Given the description of an element on the screen output the (x, y) to click on. 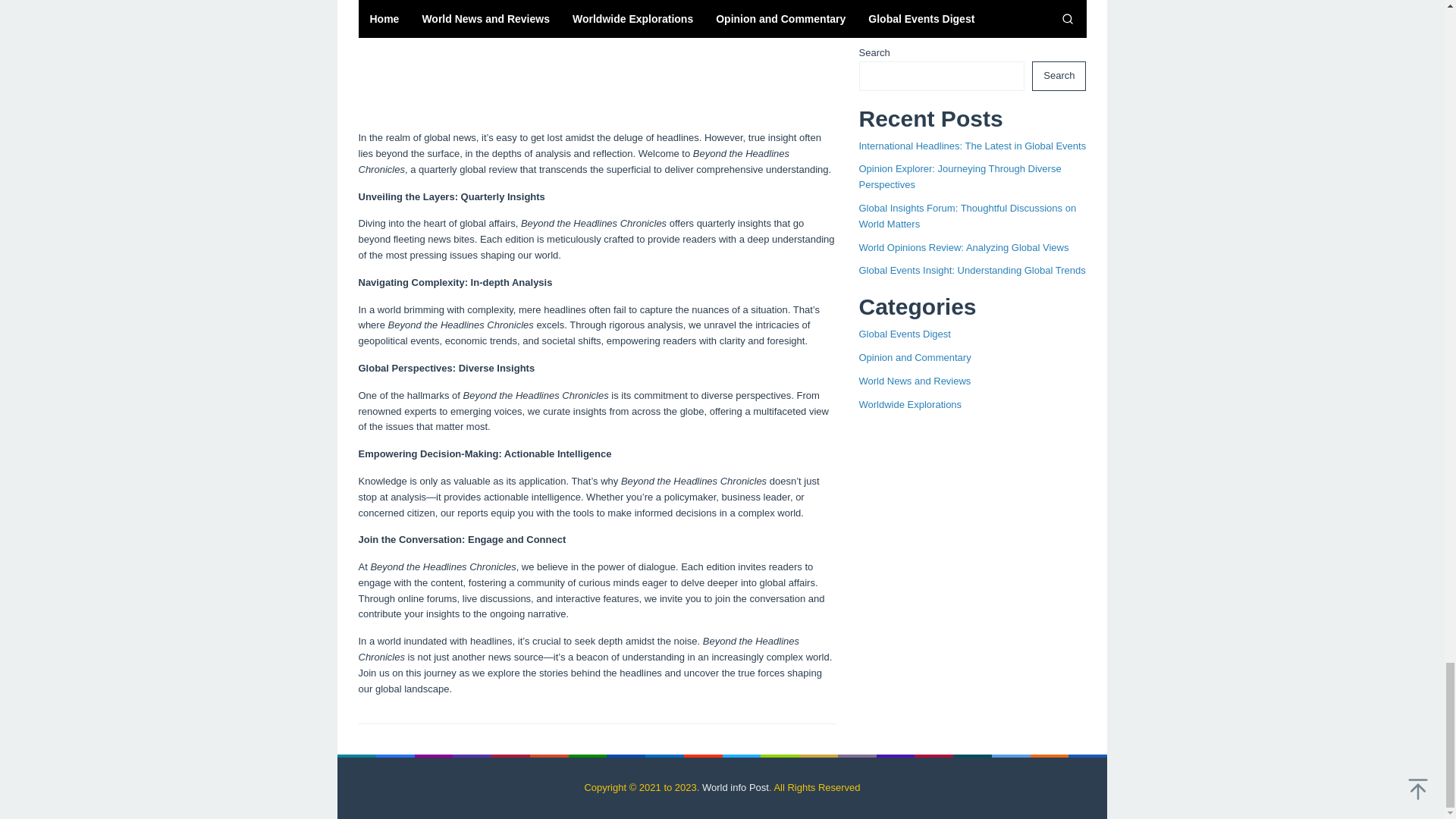
World info Post (734, 787)
